Given the description of an element on the screen output the (x, y) to click on. 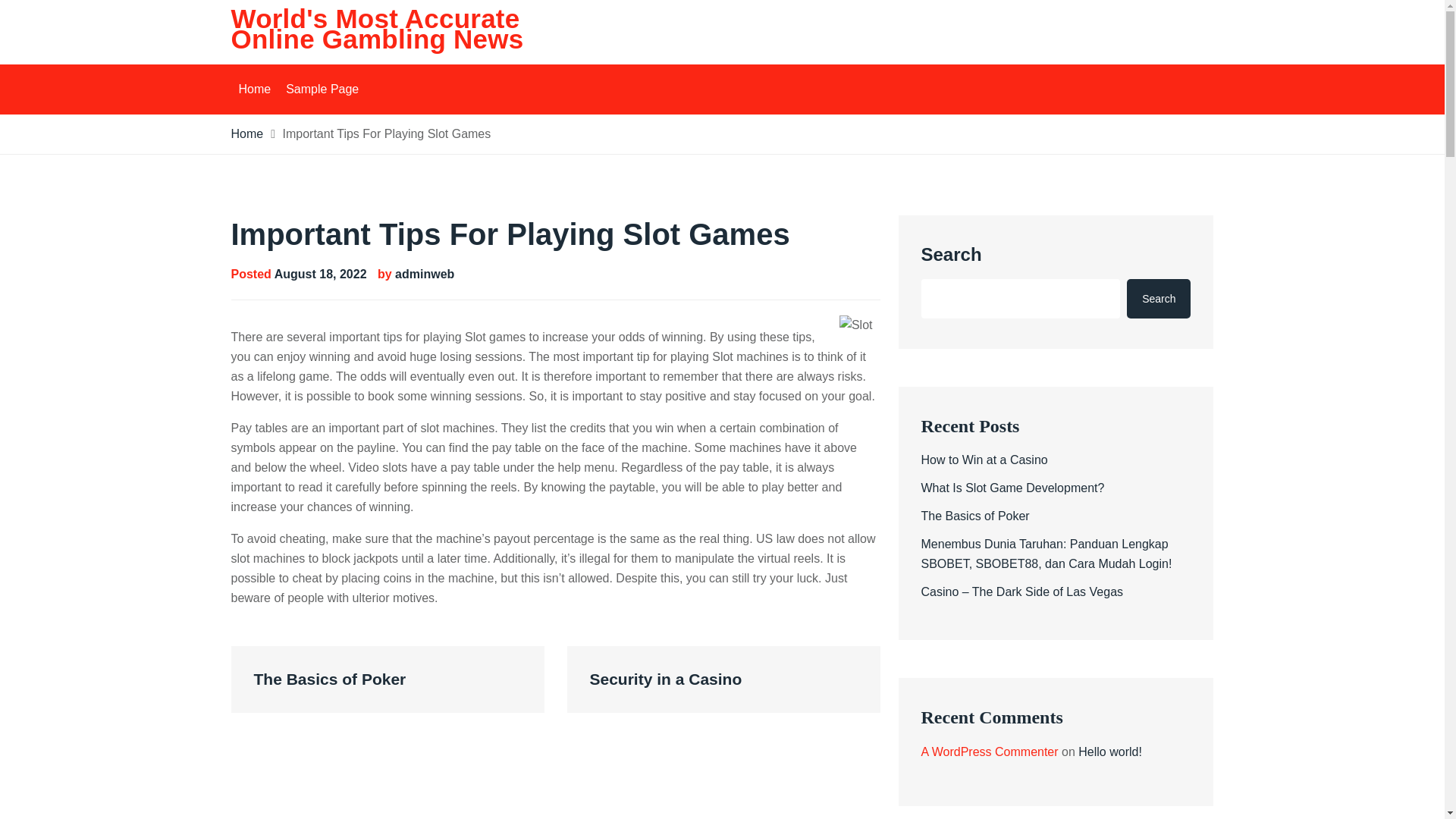
A WordPress Commenter (989, 751)
Sample Page (322, 89)
Hello world! (1109, 751)
Home (246, 133)
The Basics of Poker (386, 679)
August 18, 2022 (320, 273)
How to Win at a Casino (983, 459)
World's Most Accurate Online Gambling News (376, 29)
Security in a Casino (723, 679)
